Given the description of an element on the screen output the (x, y) to click on. 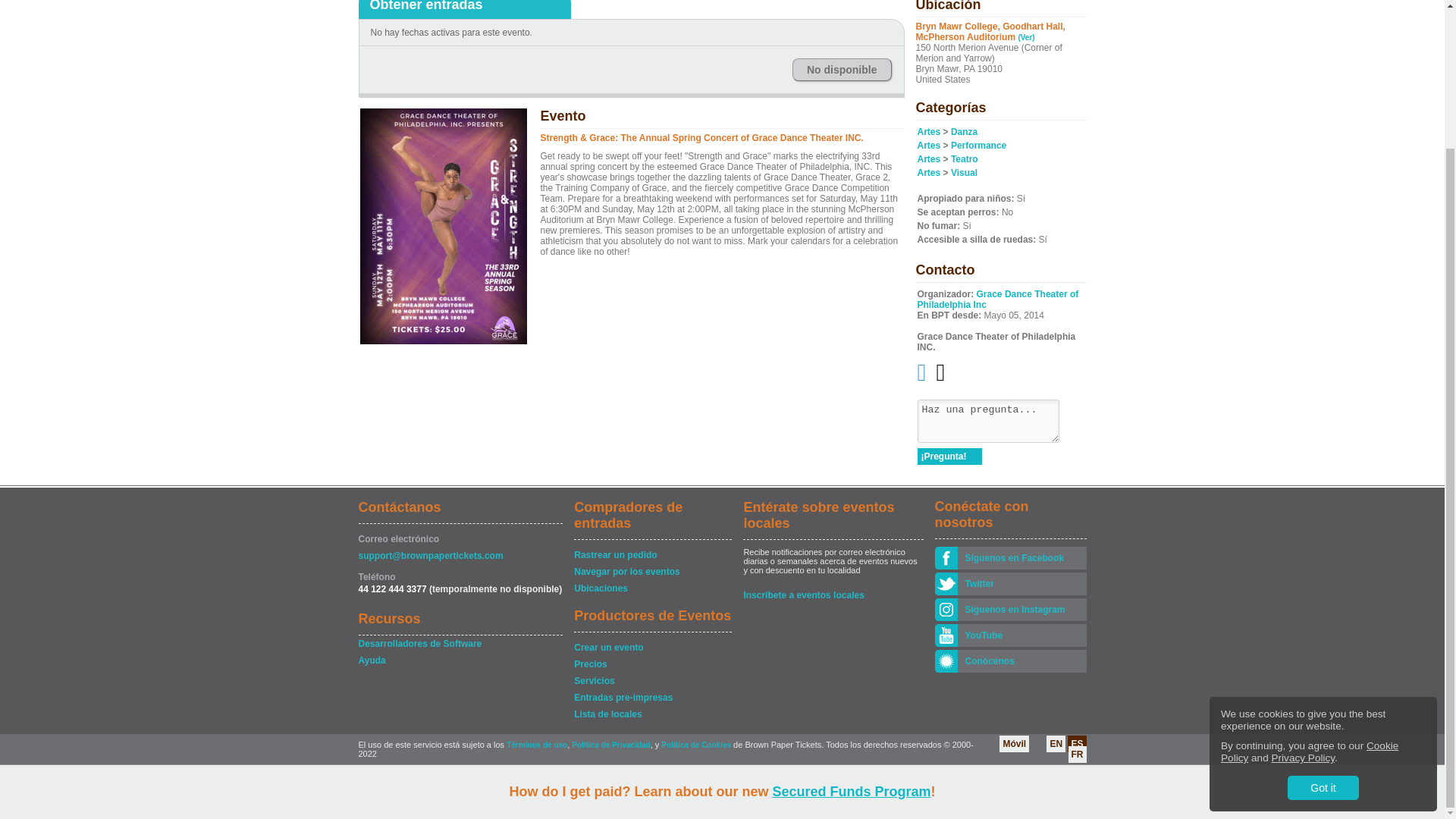
No disponible (841, 69)
Danza (963, 131)
Visual (963, 172)
Artes (928, 145)
Privacy Policy (1303, 586)
Ayuda (460, 660)
Ubicaciones (651, 588)
Secured Funds Program (850, 620)
Cookie Policy (1309, 580)
Grace Dance Theater of Philadelphia Inc (997, 299)
